Given the description of an element on the screen output the (x, y) to click on. 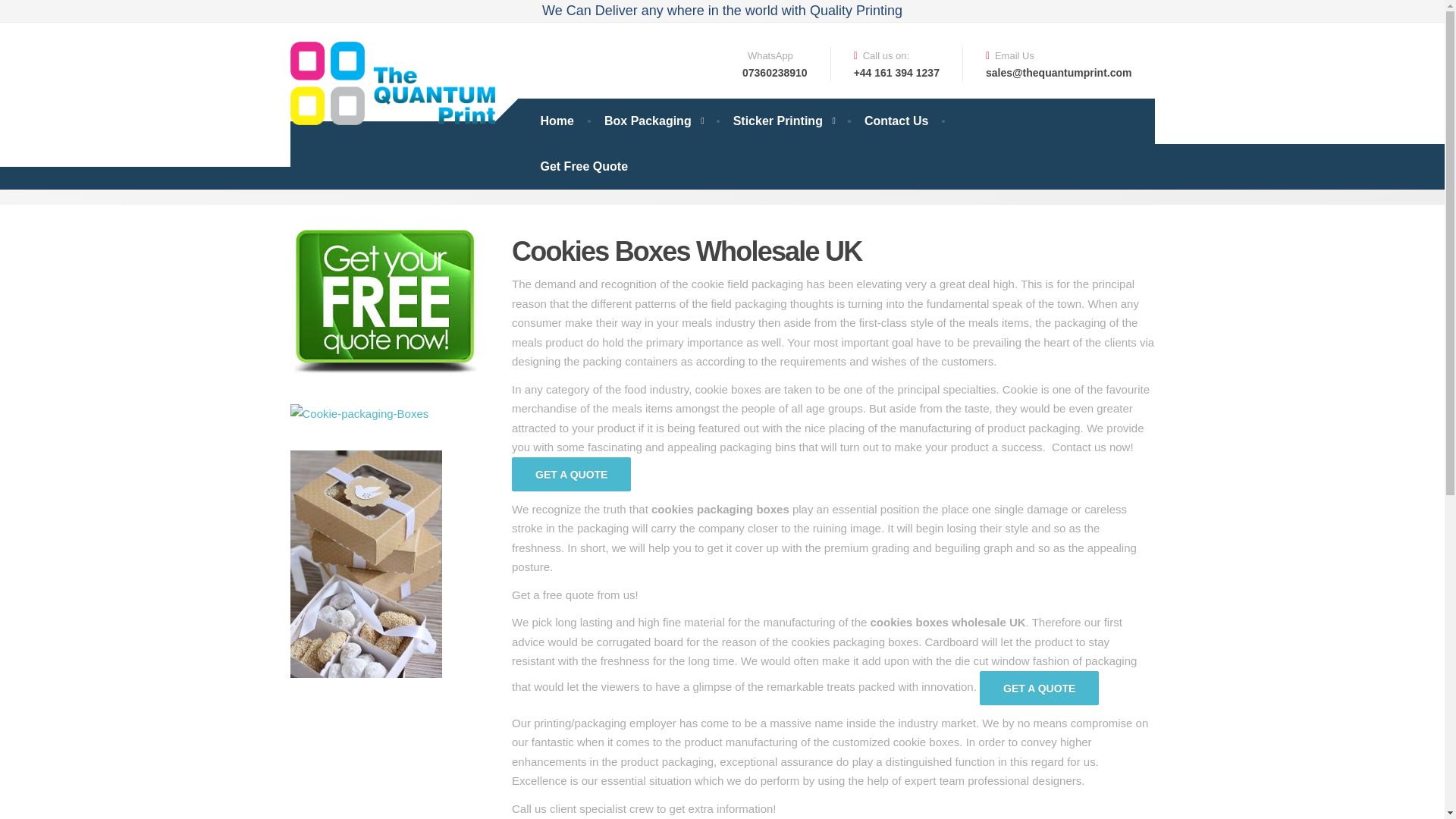
Home (556, 121)
GET A QUOTE (775, 63)
Get Free Quote (571, 474)
Box Packaging (583, 166)
Sticker Printing (653, 121)
Contact Us (782, 121)
